Given the description of an element on the screen output the (x, y) to click on. 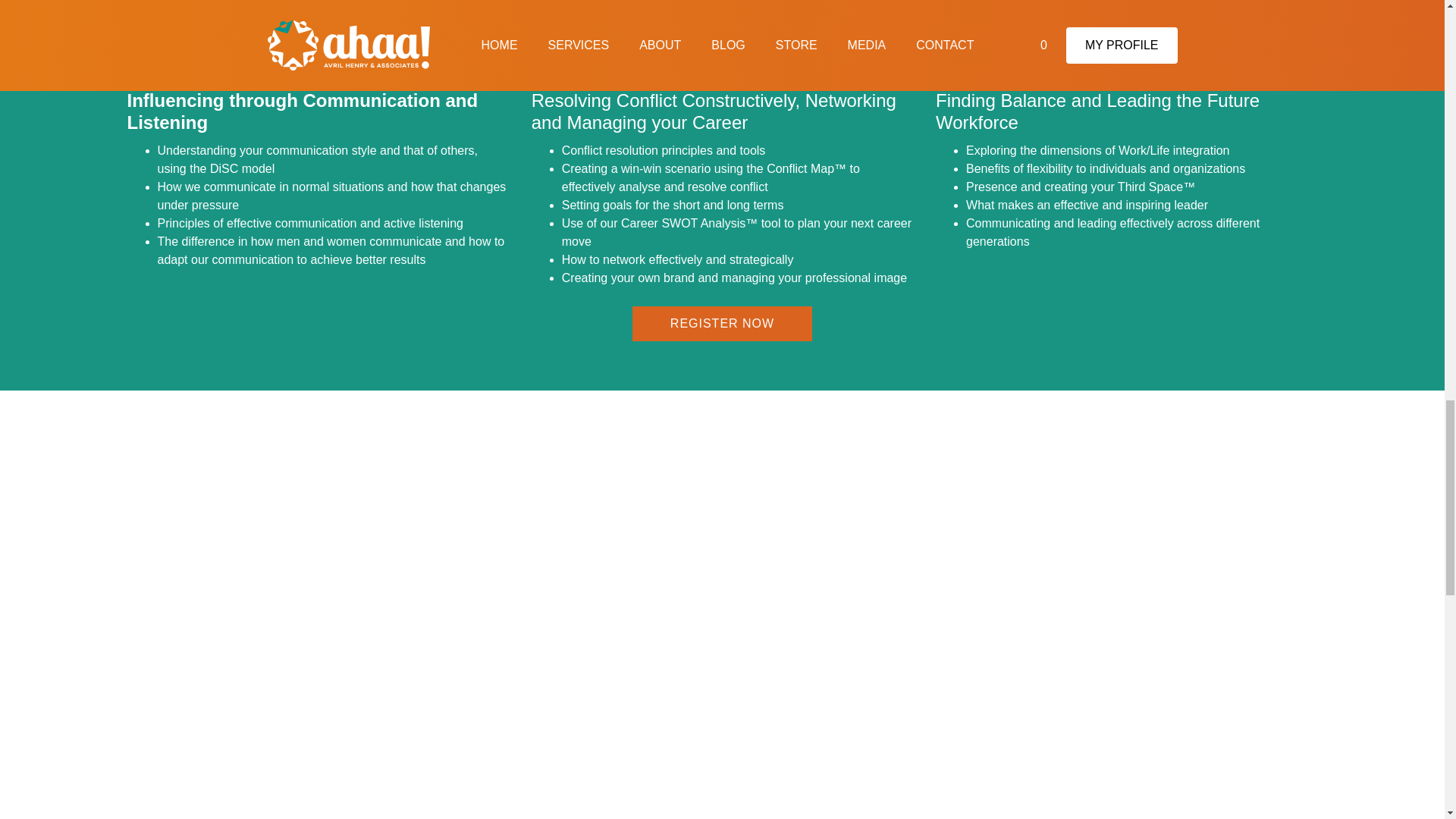
REGISTER NOW (721, 323)
